Given the description of an element on the screen output the (x, y) to click on. 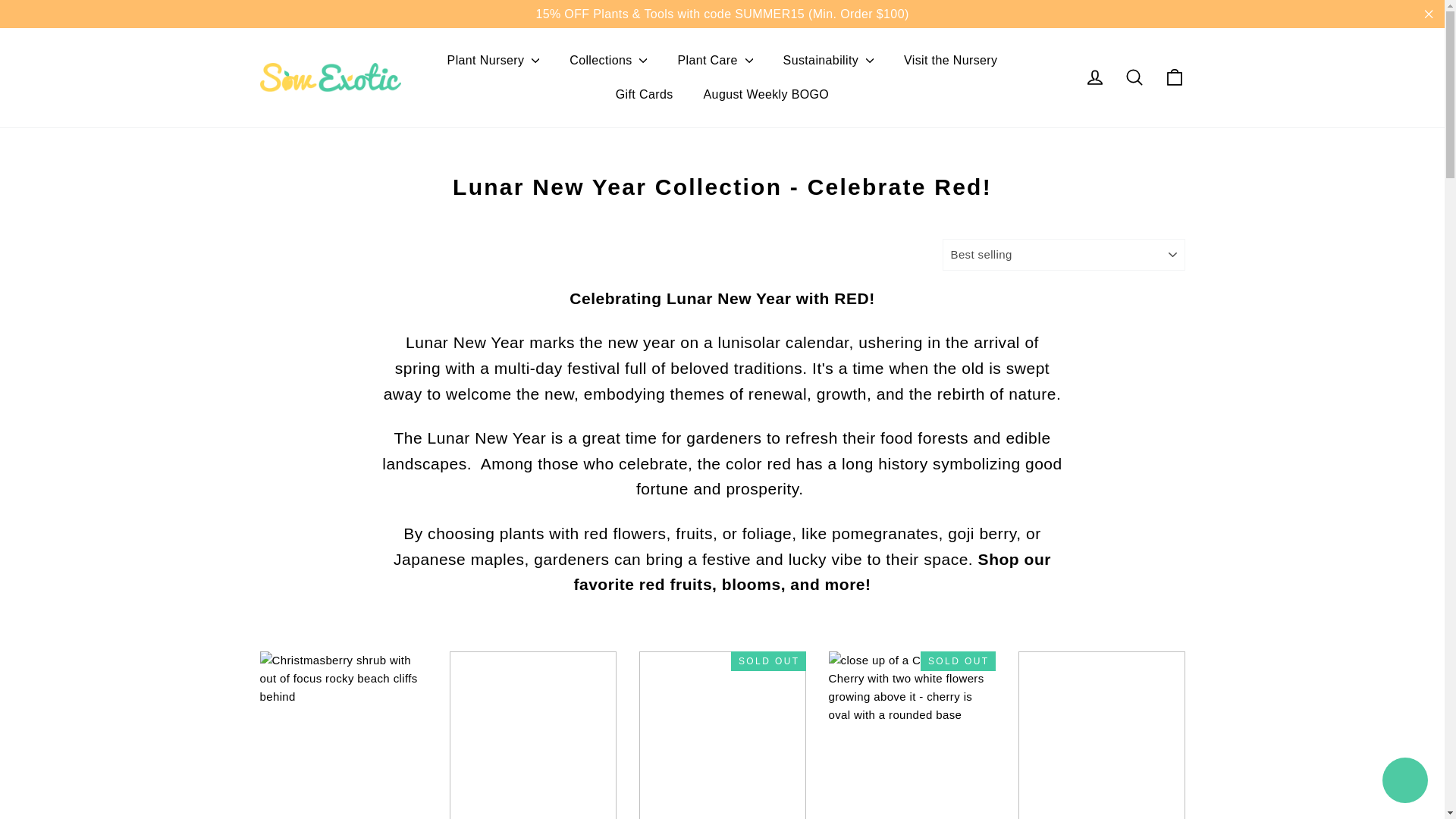
Shopify online store chat (1404, 781)
Plant Nursery (493, 60)
